Given the description of an element on the screen output the (x, y) to click on. 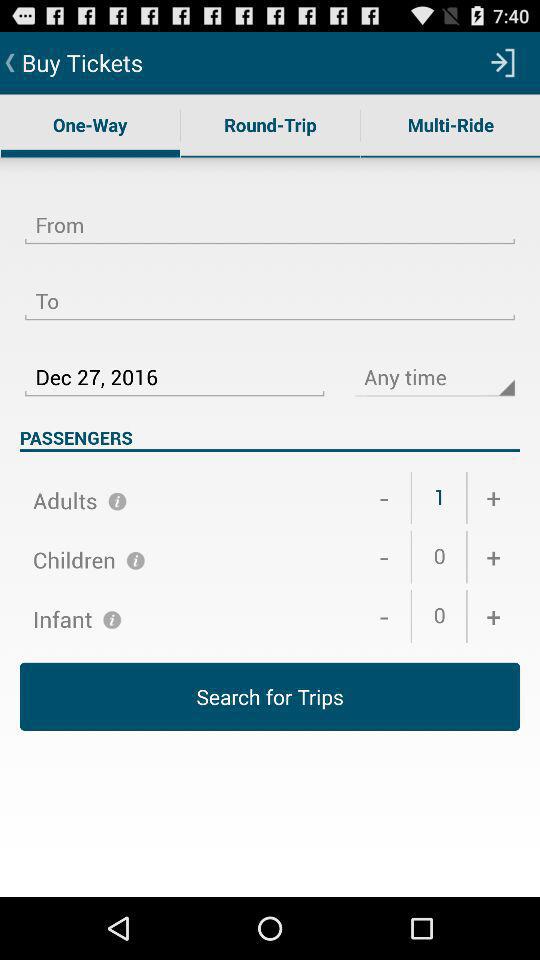
tap the + item (493, 497)
